Given the description of an element on the screen output the (x, y) to click on. 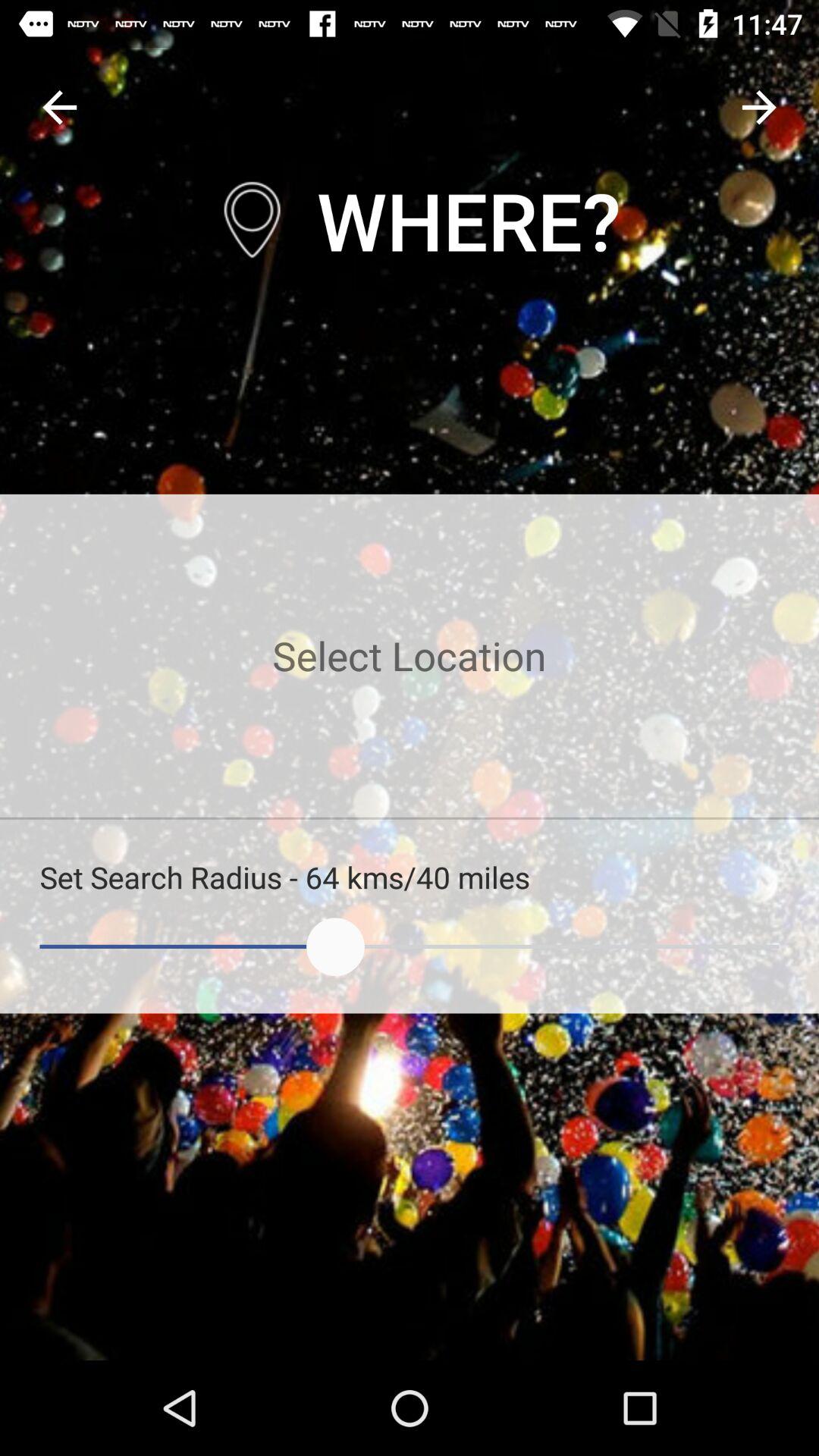
select location (409, 655)
